Given the description of an element on the screen output the (x, y) to click on. 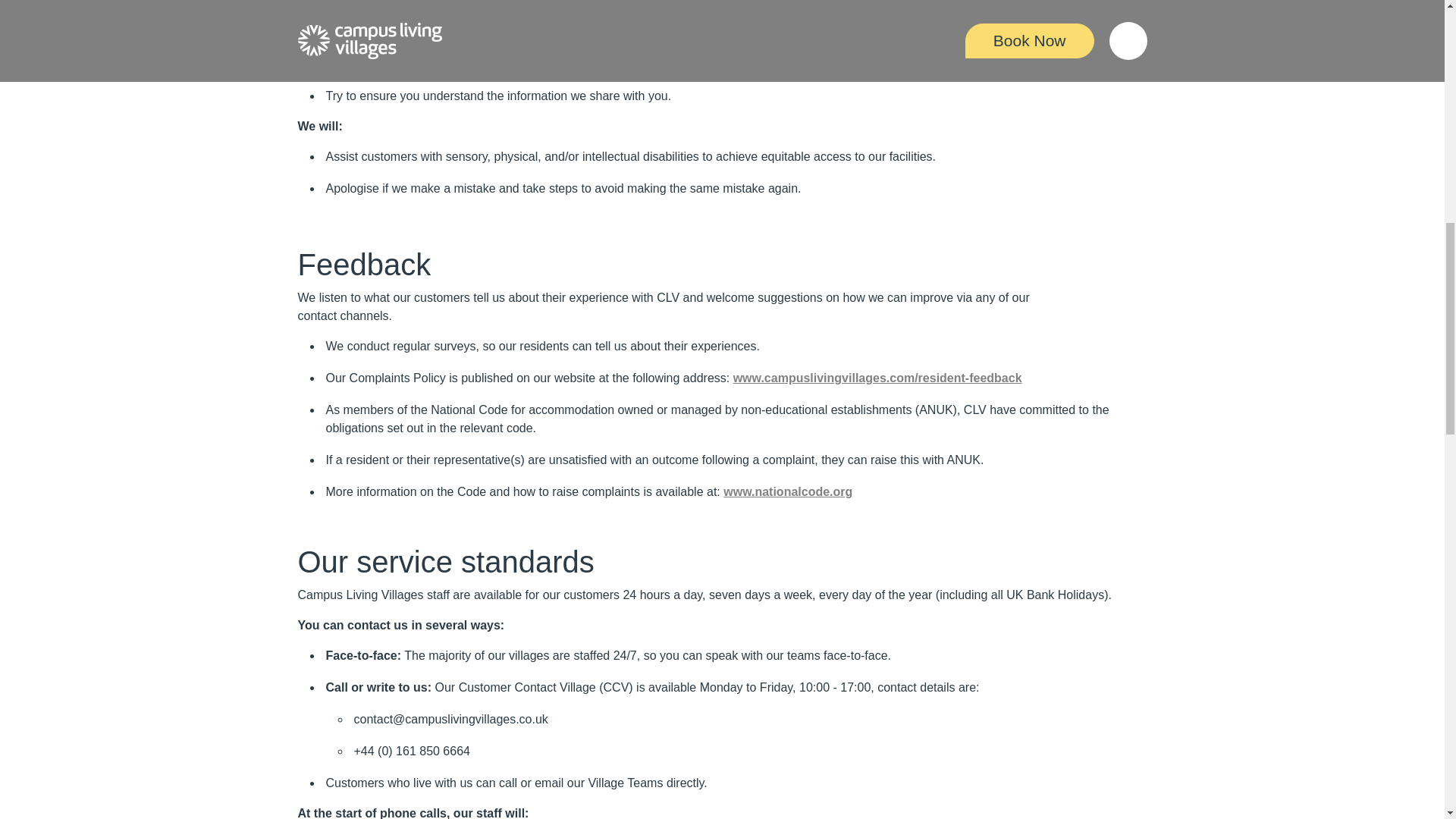
National Code (787, 491)
Resident Feedback (877, 377)
